Given the description of an element on the screen output the (x, y) to click on. 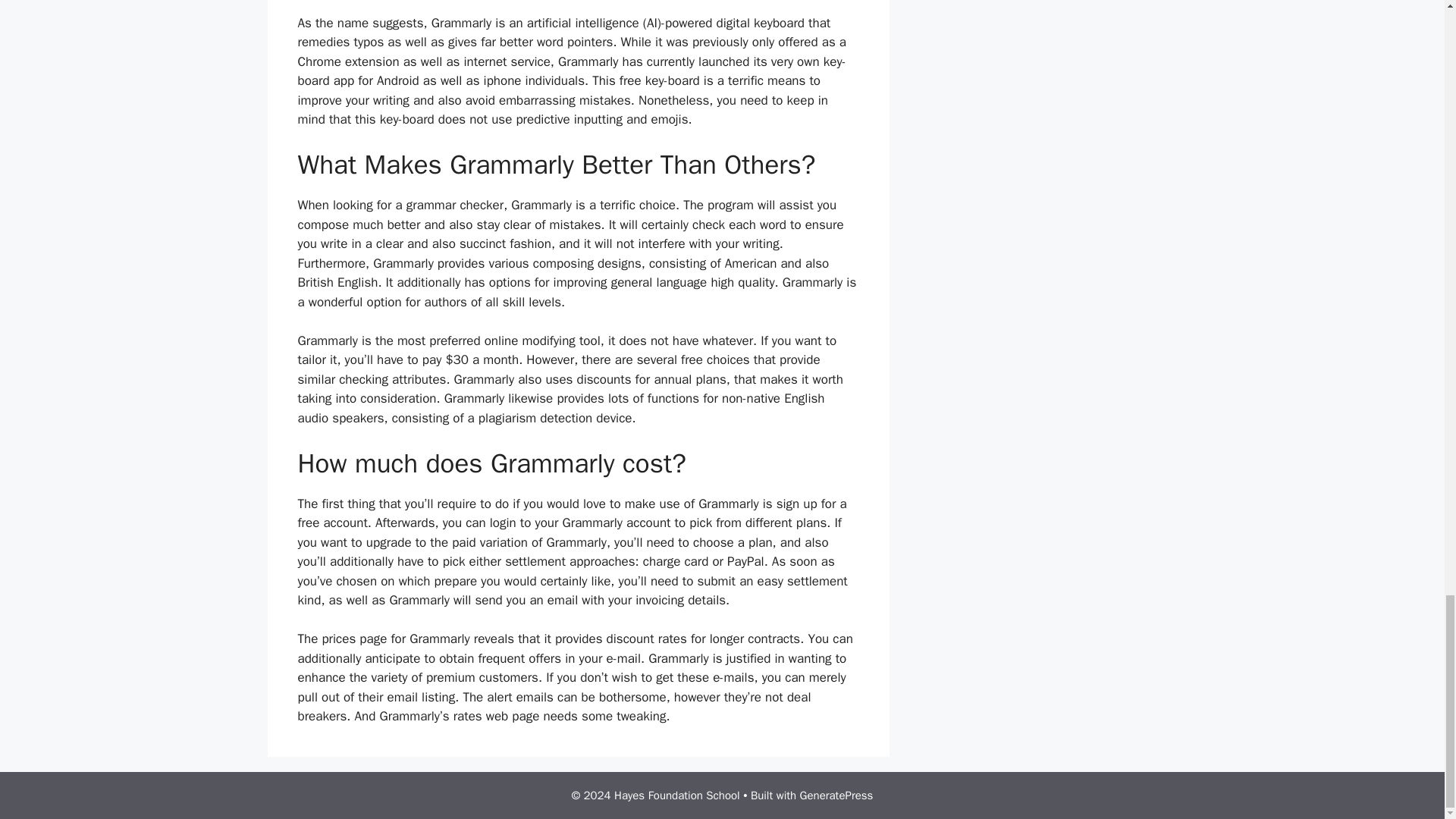
GeneratePress (836, 795)
